Given the description of an element on the screen output the (x, y) to click on. 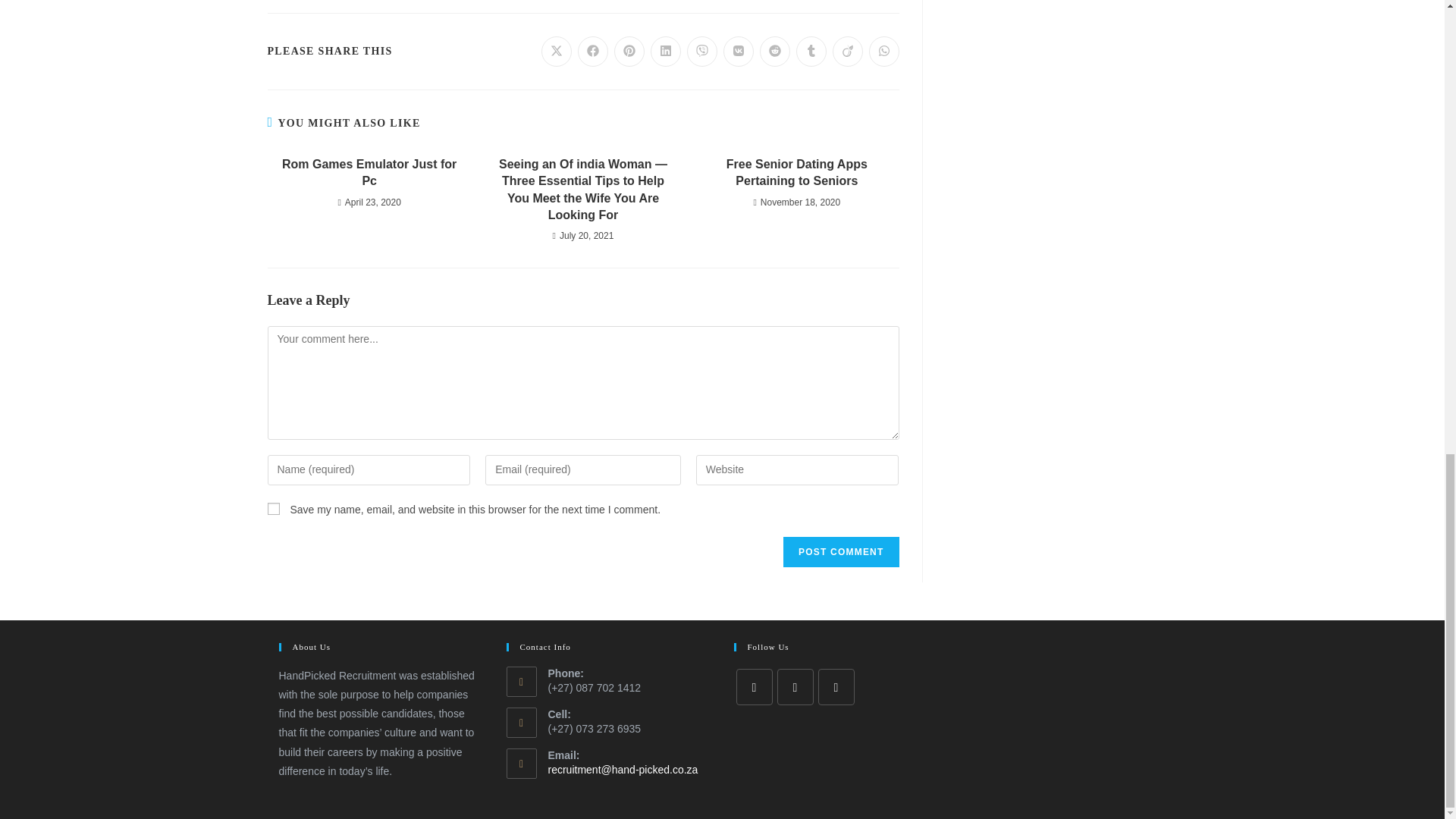
Post Comment (840, 552)
Rom Games Emulator Just for Pc (368, 173)
Free Senior Dating Apps Pertaining to Seniors (796, 173)
yes (272, 508)
